Given the description of an element on the screen output the (x, y) to click on. 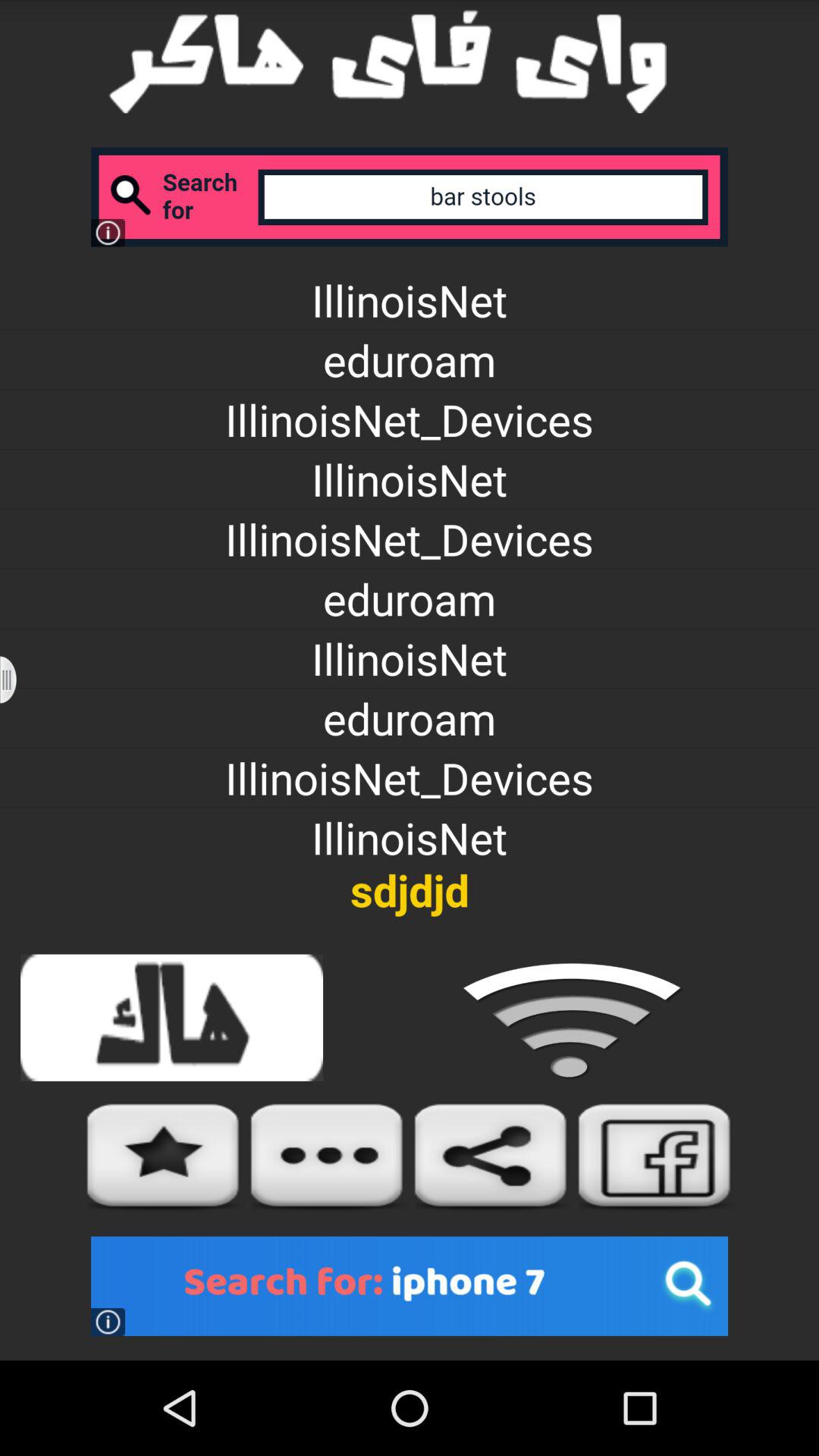
search box (409, 196)
